Given the description of an element on the screen output the (x, y) to click on. 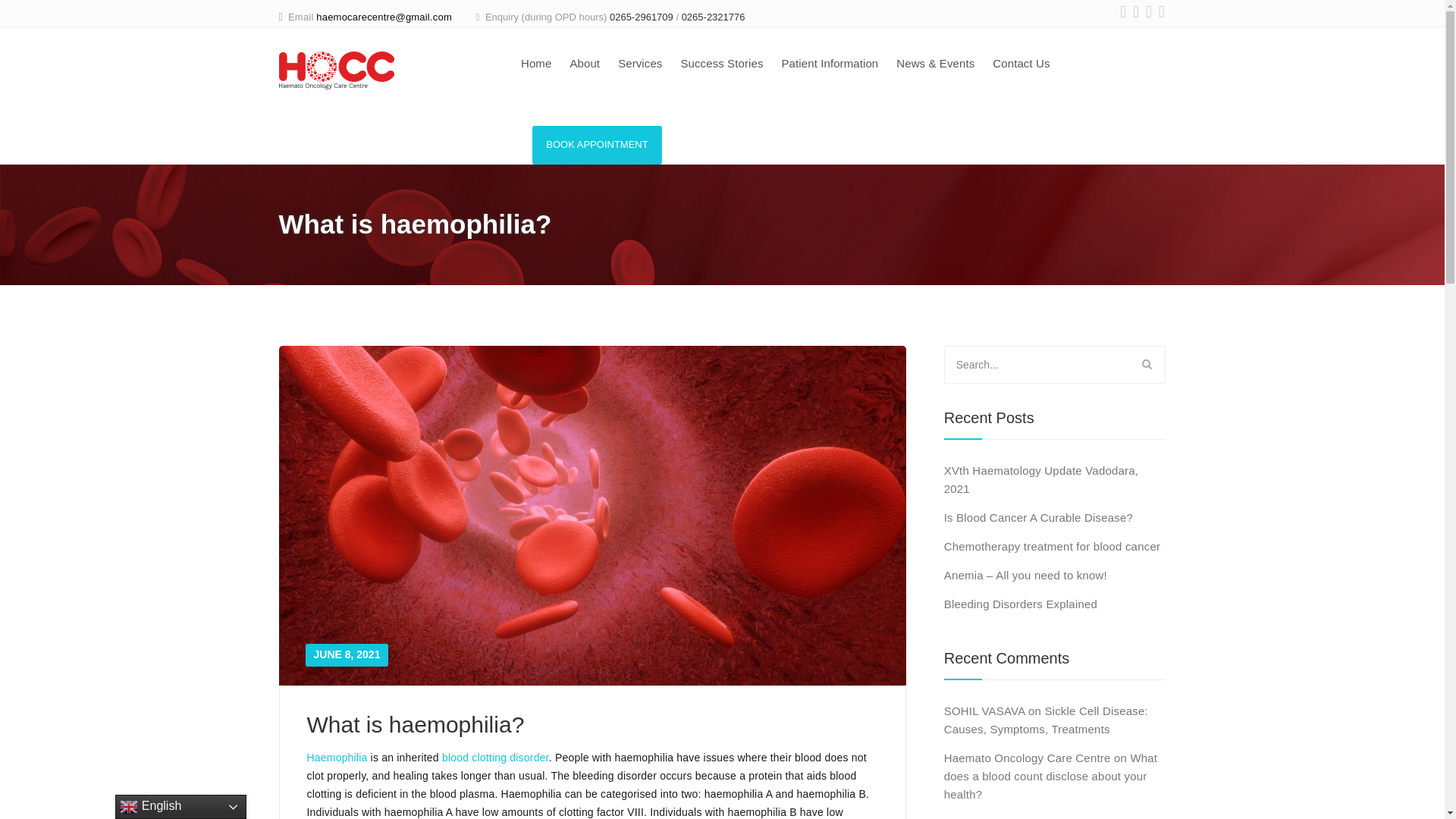
0265-2961709 (641, 16)
Contact Us (1021, 65)
Patient Information (828, 65)
Haemophilia (335, 757)
Success Stories (721, 65)
blood clotting disorder (495, 757)
BOOK APPOINTMENT (597, 145)
0265-2321776 (713, 16)
